Given the description of an element on the screen output the (x, y) to click on. 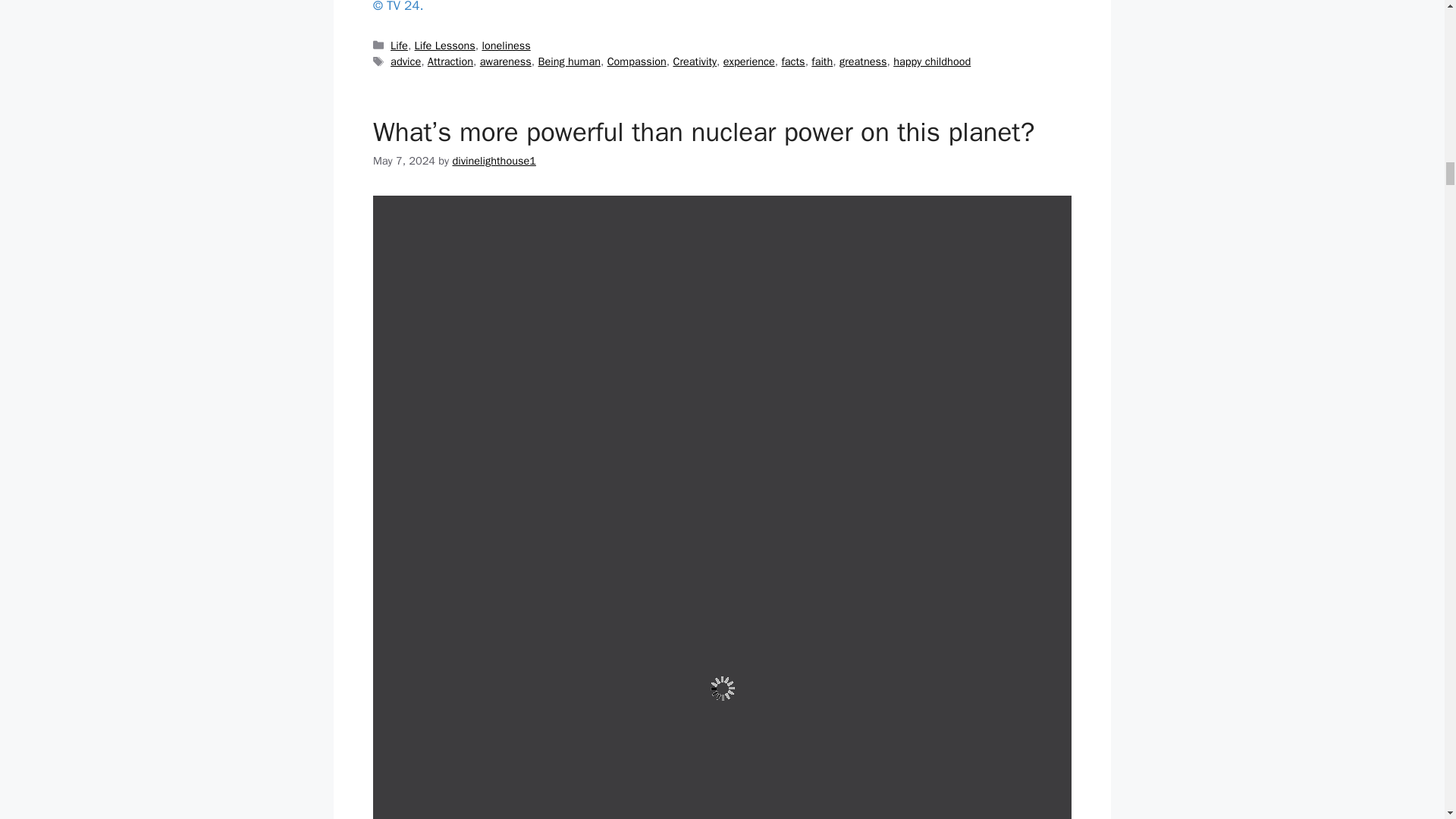
Attraction (450, 60)
loneliness (505, 45)
awareness (505, 60)
experience (748, 60)
Being human (568, 60)
Life Lessons (445, 45)
Compassion (636, 60)
Creativity (694, 60)
Life (398, 45)
View all posts by divinelighthouse1 (493, 160)
advice (405, 60)
